Given the description of an element on the screen output the (x, y) to click on. 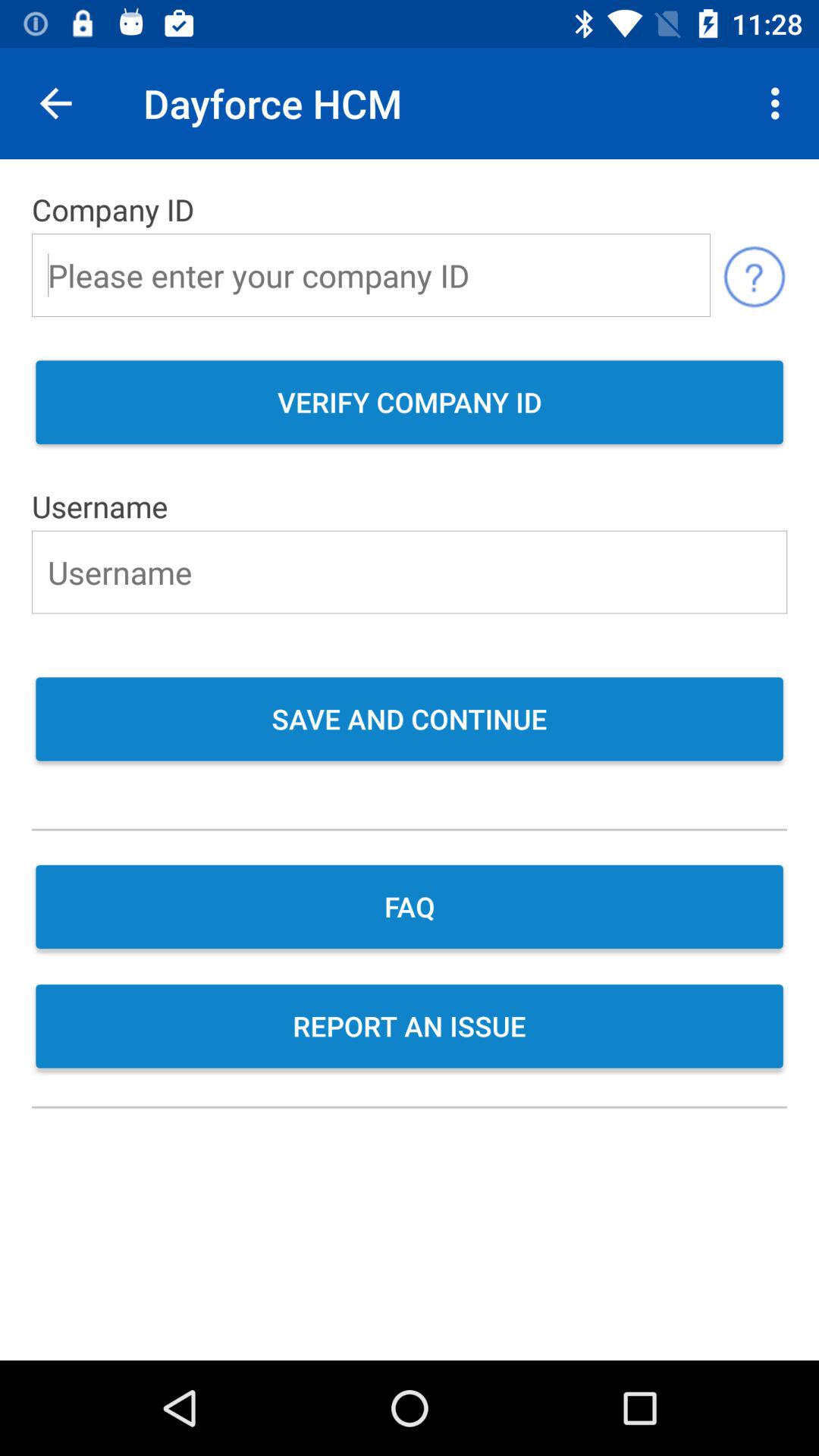
jump to save and continue item (409, 720)
